Given the description of an element on the screen output the (x, y) to click on. 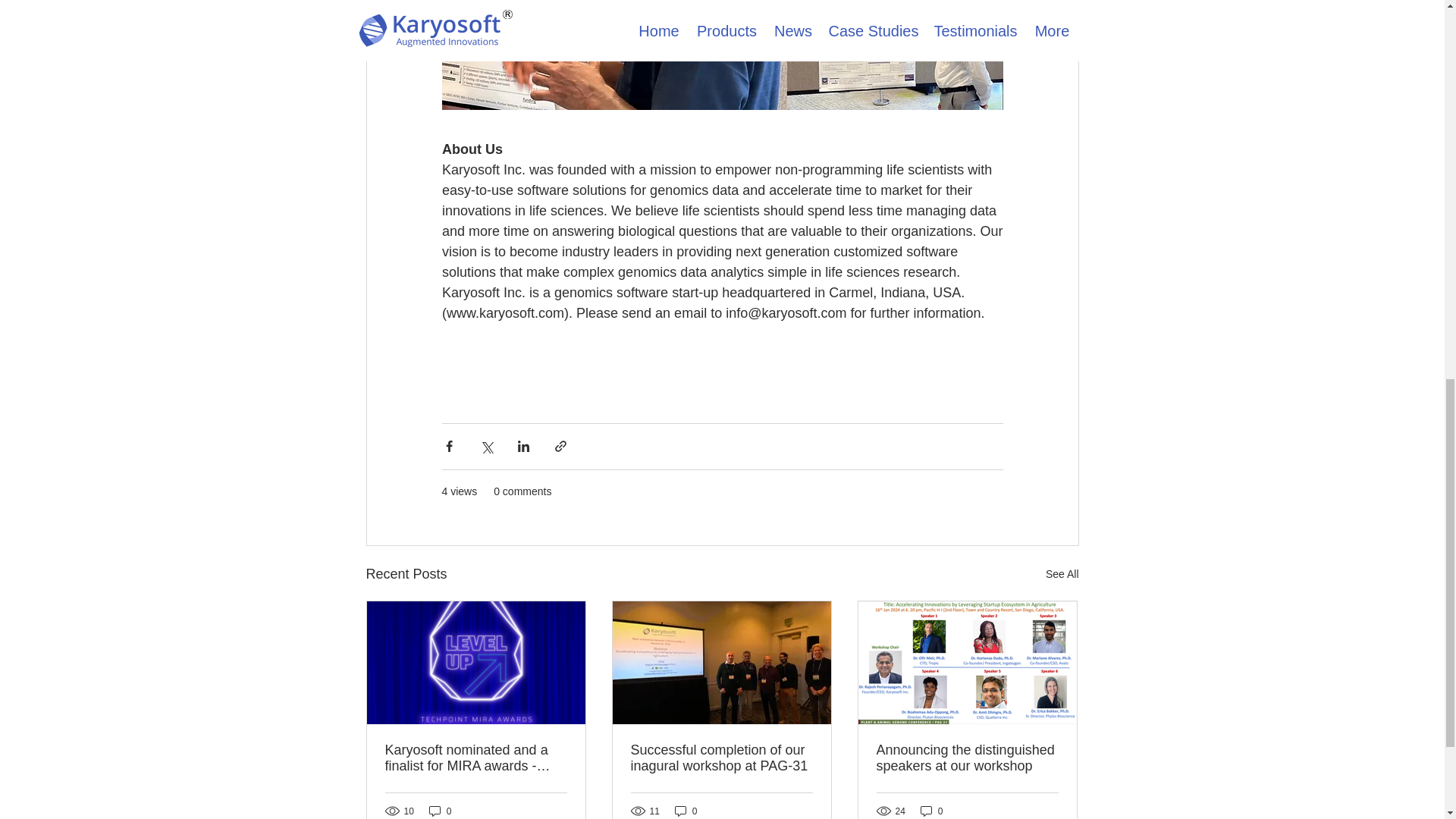
Announcing the distinguished speakers at our workshop (967, 757)
Karyosoft nominated and a finalist for MIRA awards - 2024 (476, 757)
0 (931, 810)
See All (1061, 574)
0 (440, 810)
0 (685, 810)
Successful completion of our inagural workshop at PAG-31 (721, 757)
